Given the description of an element on the screen output the (x, y) to click on. 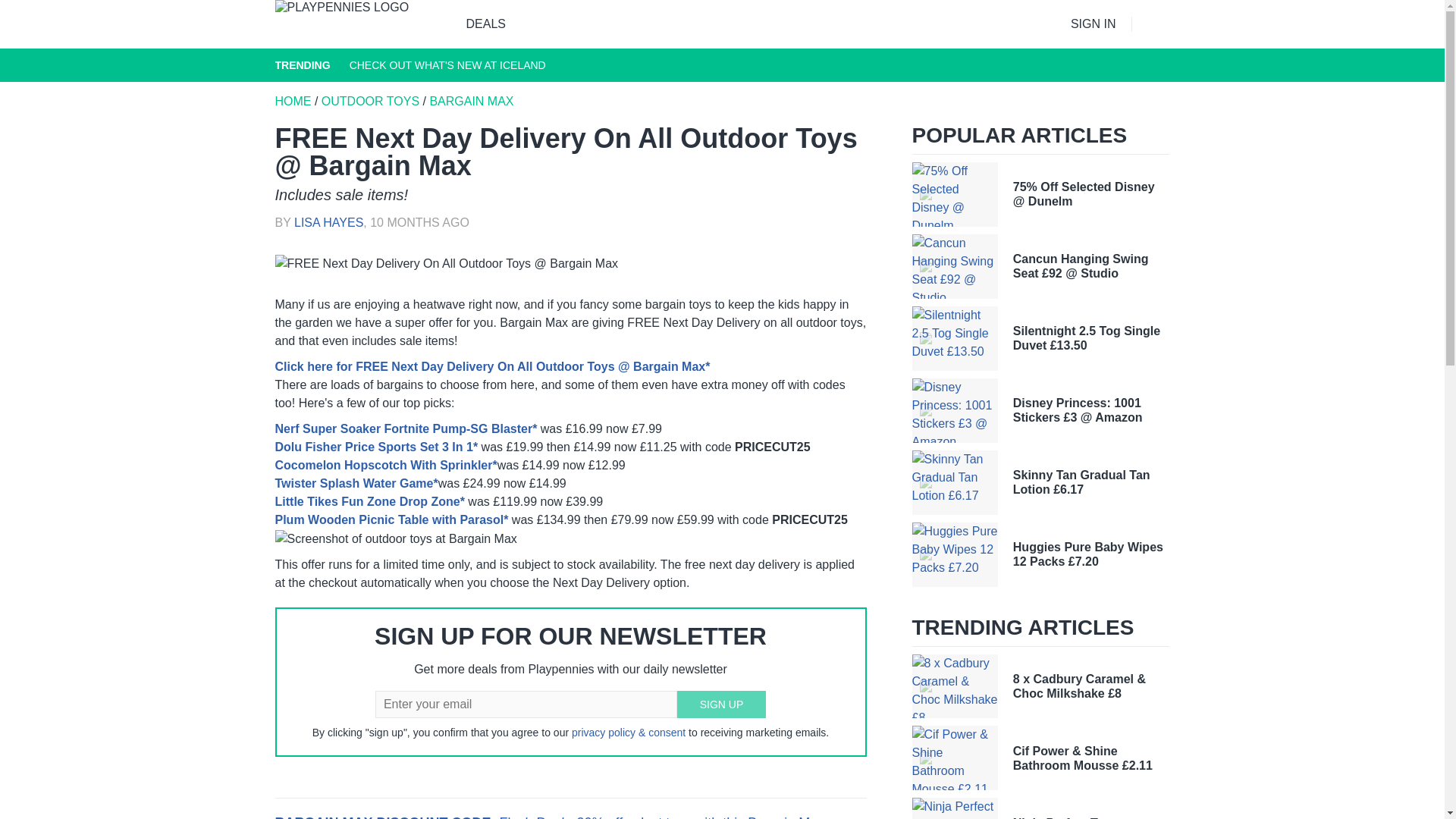
DEALS (485, 23)
